Given the description of an element on the screen output the (x, y) to click on. 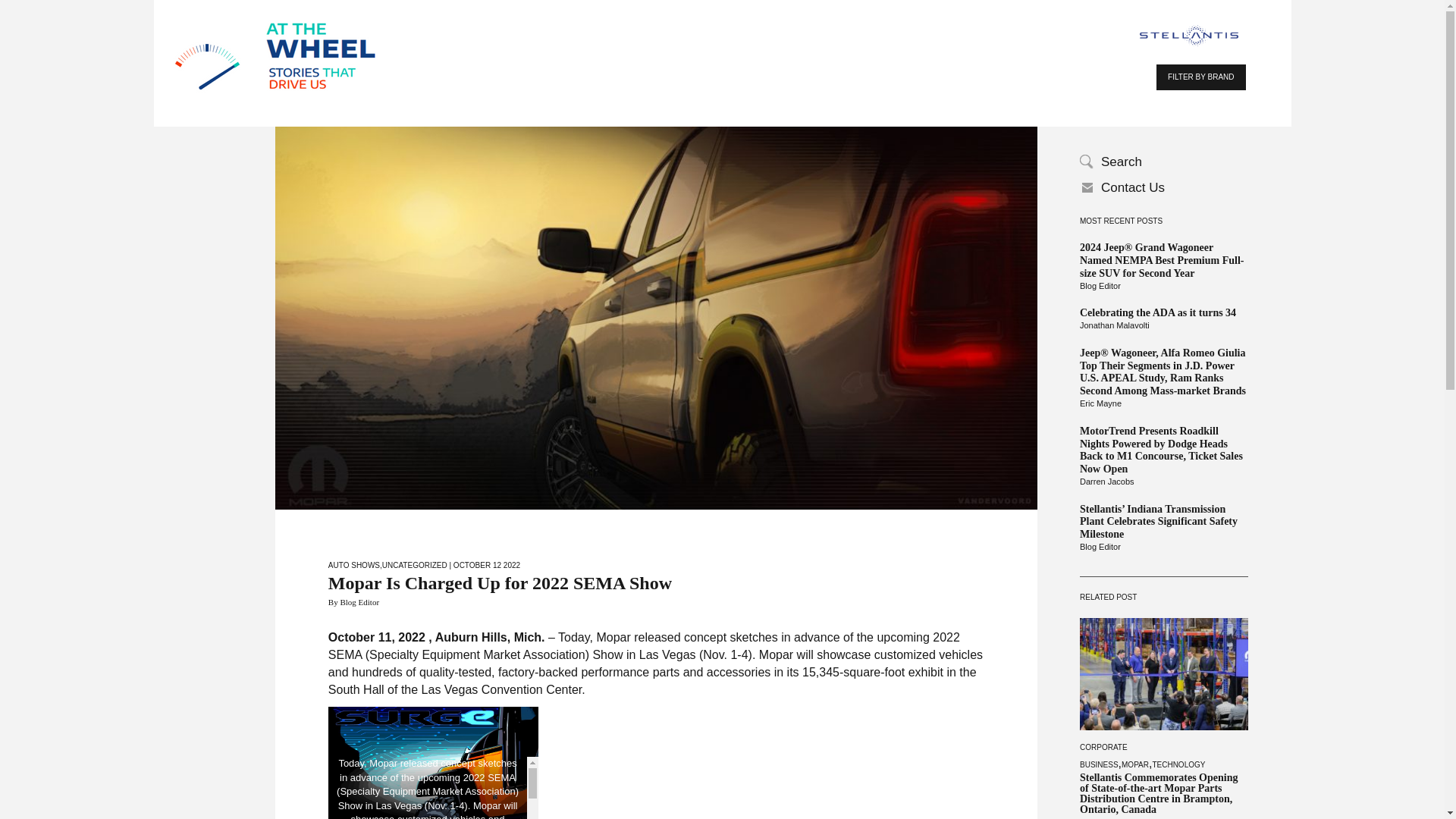
TECHNOLOGY (1178, 764)
Darren Jacobs (1163, 481)
Eric Mayne (1163, 404)
Search (1163, 162)
Blog Editor (1163, 547)
FILTER BY BRAND (1200, 77)
Contact Us (1163, 187)
Celebrating the ADA as it turns 34 (1163, 313)
